Given the description of an element on the screen output the (x, y) to click on. 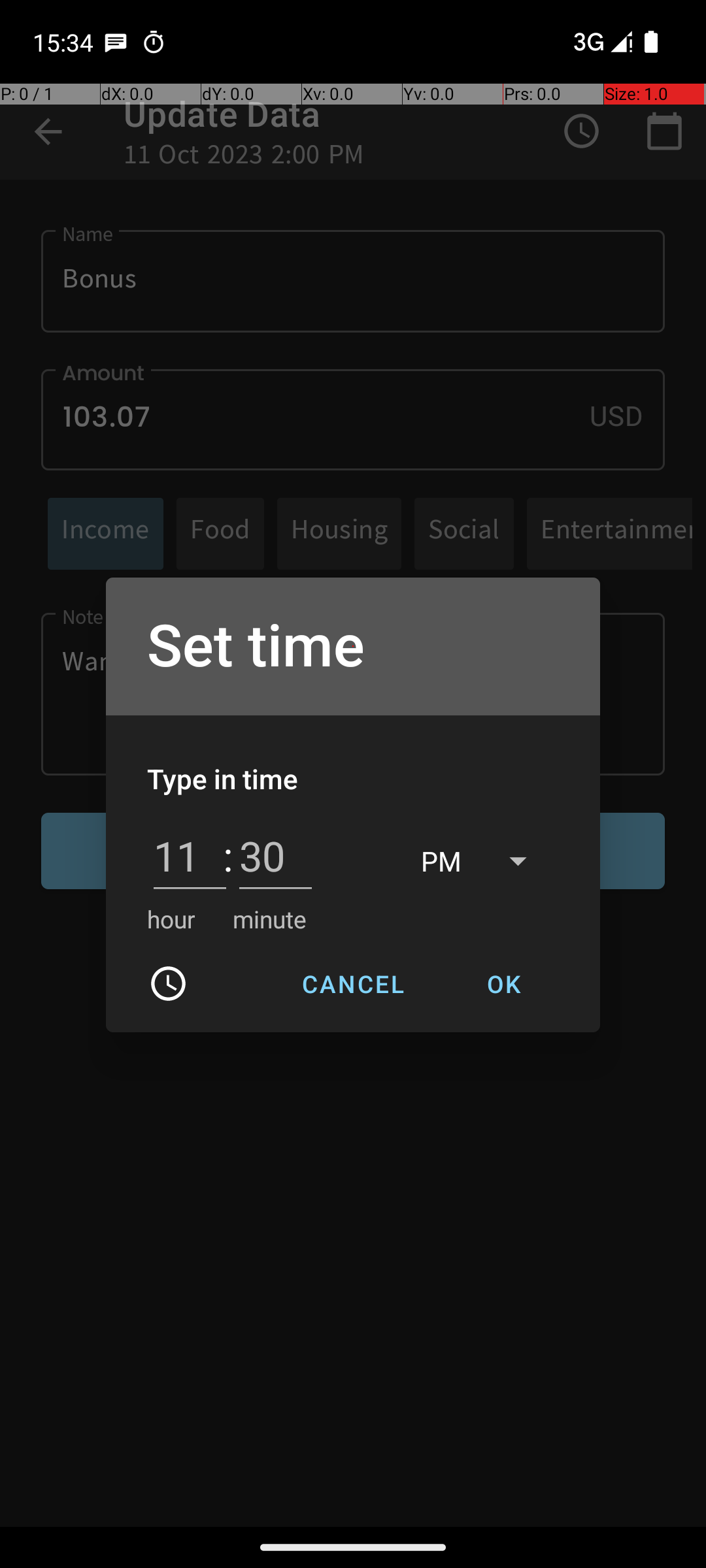
Set time Element type: android.widget.TextView (352, 646)
Type in time Element type: android.widget.TextView (222, 778)
: Element type: android.widget.TextView (227, 855)
hour Element type: android.widget.TextView (171, 918)
minute Element type: android.widget.TextView (269, 918)
Switch to clock mode for the time input. Element type: android.widget.ImageButton (167, 983)
